Given the description of an element on the screen output the (x, y) to click on. 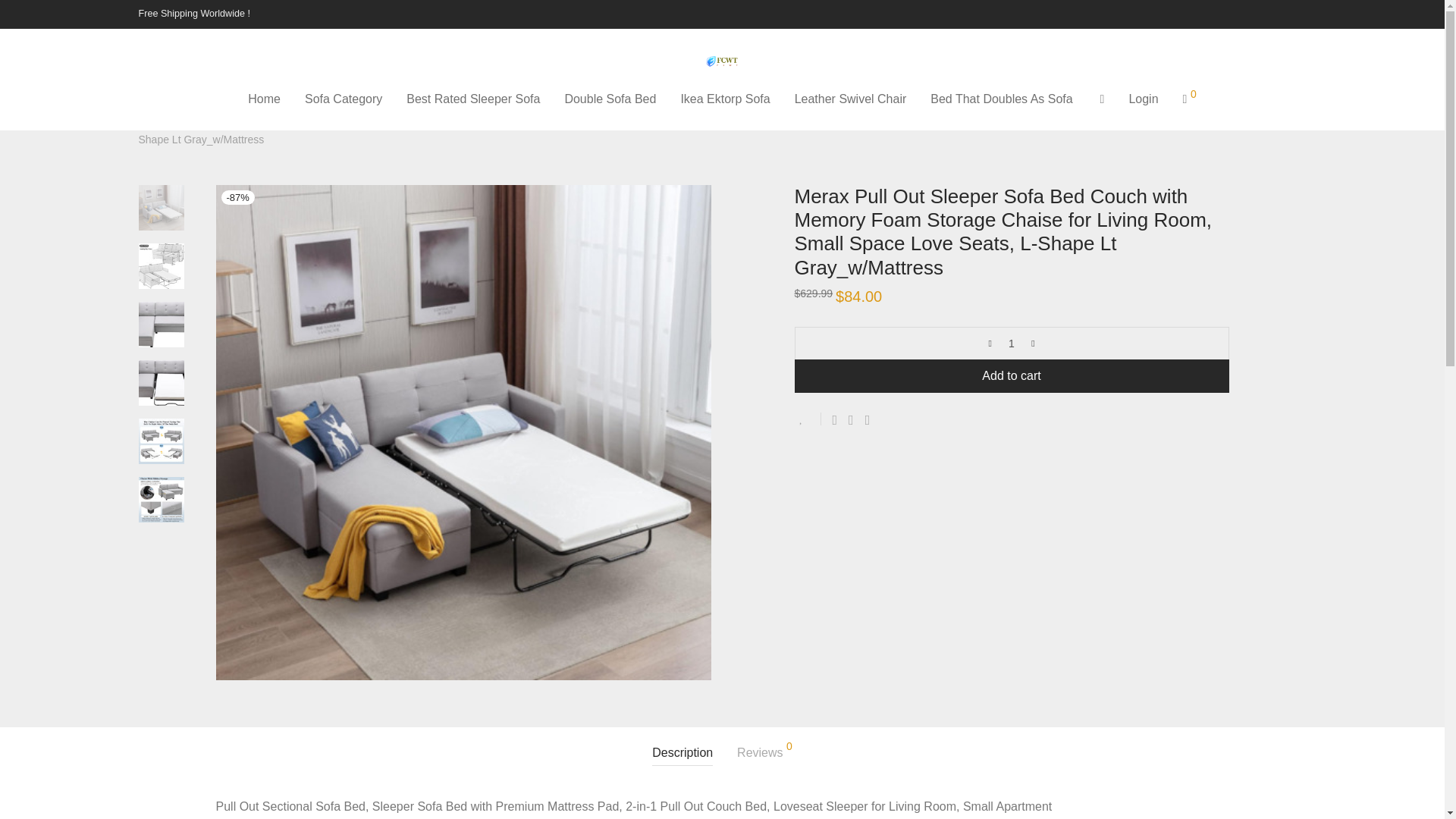
Double Sofa Bed (609, 99)
Sofa Category (343, 99)
Sofa Category (214, 117)
Home (151, 117)
Description (682, 753)
Login (1143, 99)
Comfortable Pull Out Couch (327, 117)
Bed That Doubles As Sofa (1001, 99)
Add to Wishlist (807, 418)
0 (1189, 99)
